Given the description of an element on the screen output the (x, y) to click on. 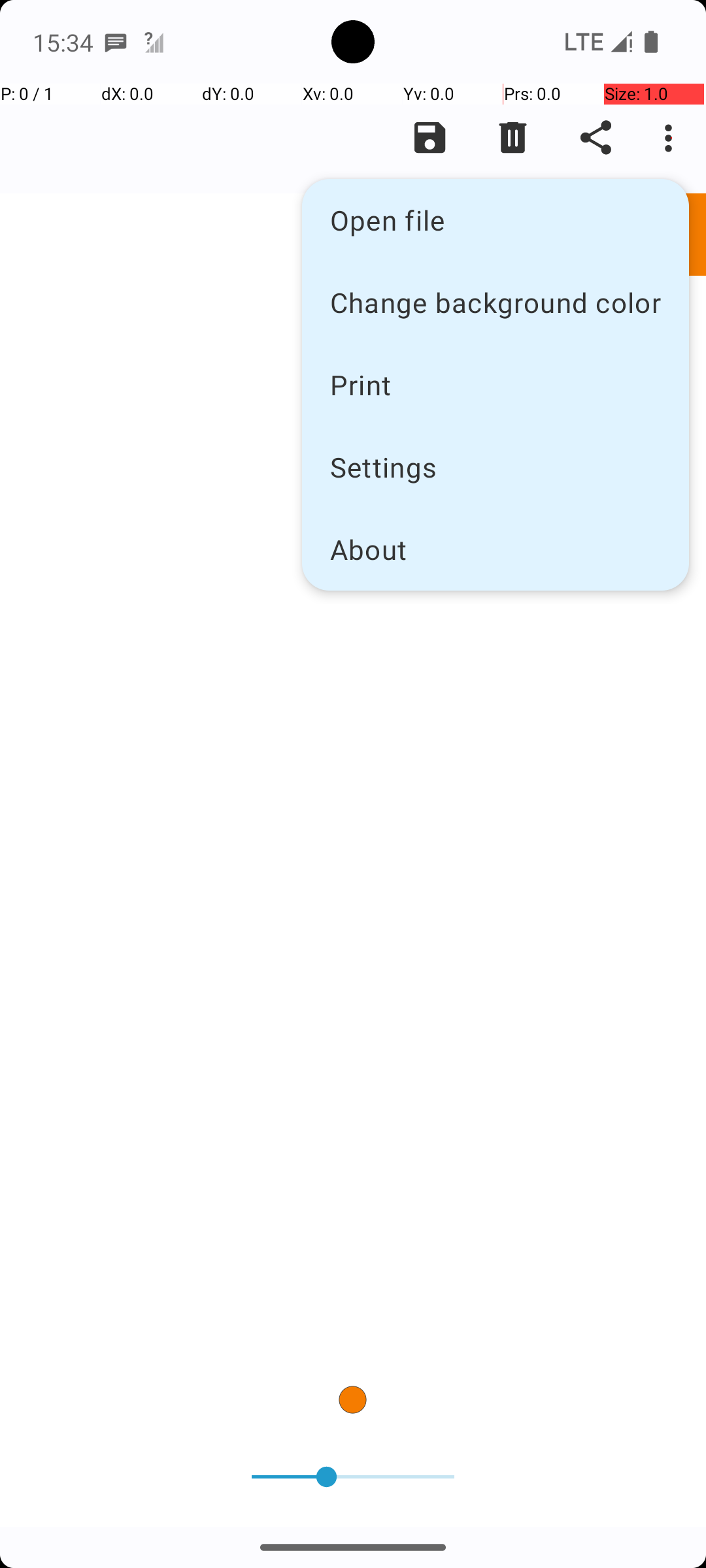
Open file Element type: android.widget.TextView (495, 219)
Change background color Element type: android.widget.TextView (495, 301)
Print Element type: android.widget.TextView (495, 384)
